Given the description of an element on the screen output the (x, y) to click on. 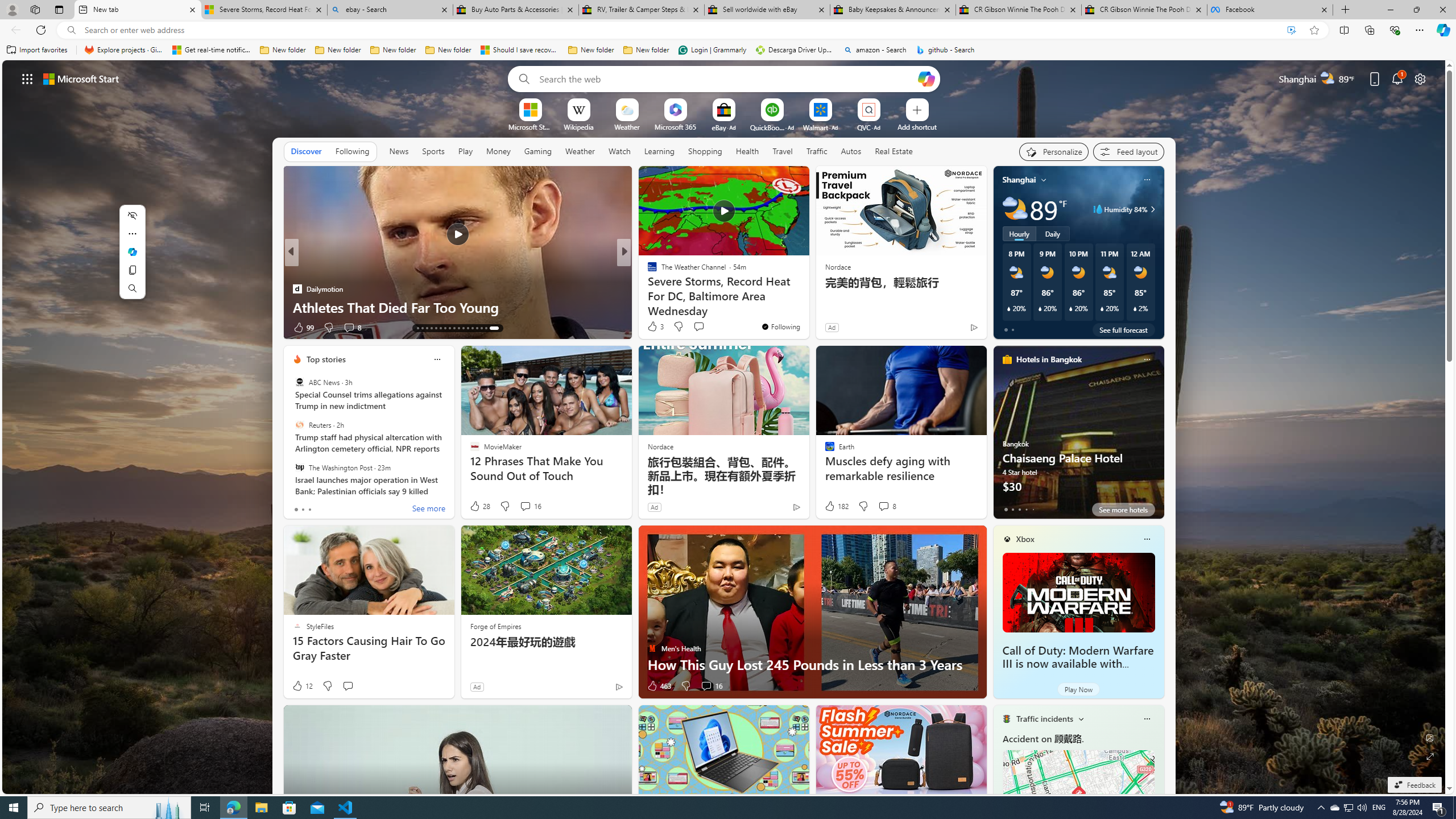
RV, Trailer & Camper Steps & Ladders for sale | eBay (641, 9)
View comments 16 Comment (705, 685)
TheStreet (647, 288)
GB News (647, 270)
App launcher (27, 78)
Xbox (1025, 538)
AutomationID: backgroundImagePicture (723, 426)
Class: weather-current-precipitation-glyph (1134, 308)
